Given the description of an element on the screen output the (x, y) to click on. 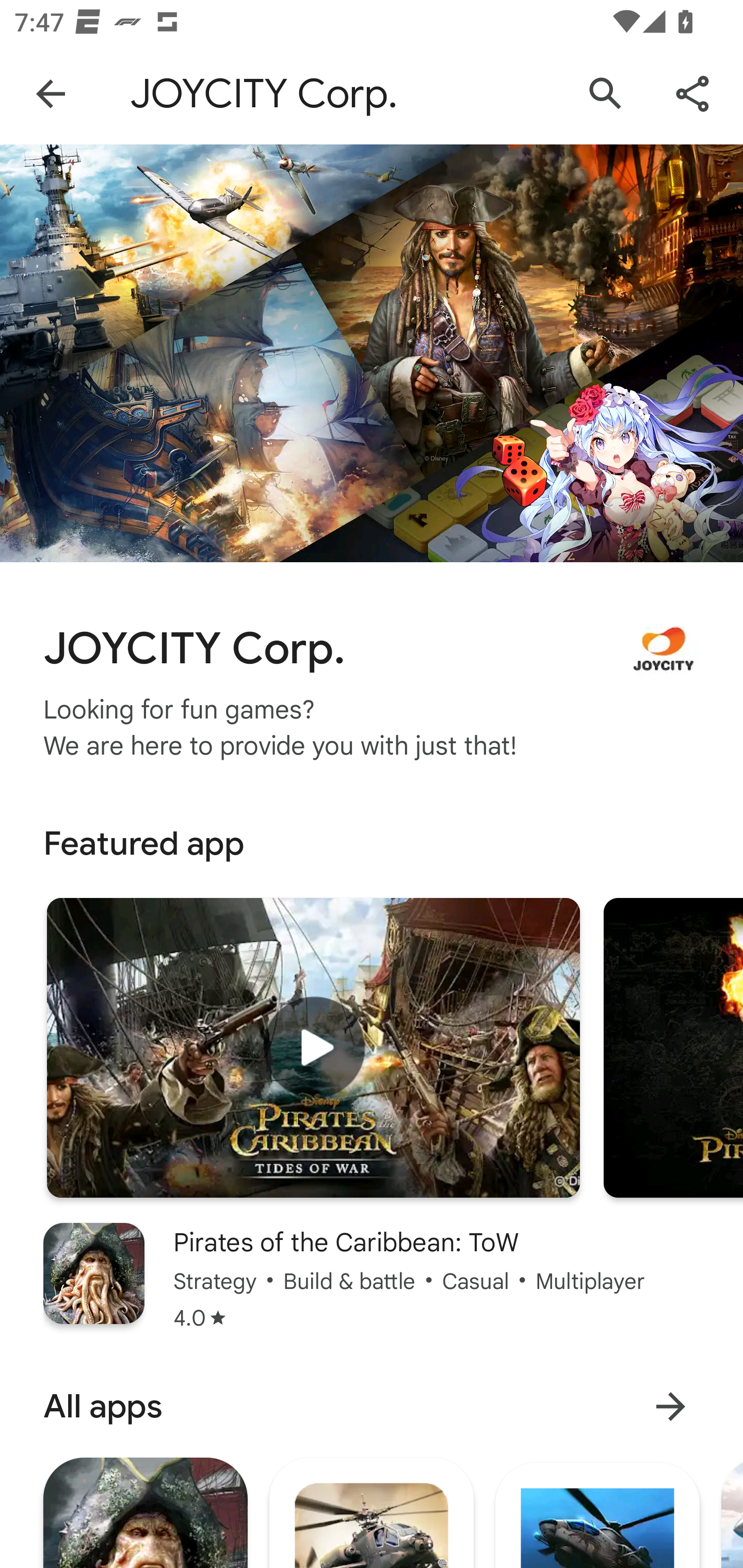
Navigate up (50, 93)
Search Google Play (605, 93)
Share (692, 93)
Play trailer for "Pirates of the Caribbean: ToW" (313, 1047)
All apps More results for All apps (371, 1406)
More results for All apps (670, 1406)
